Given the description of an element on the screen output the (x, y) to click on. 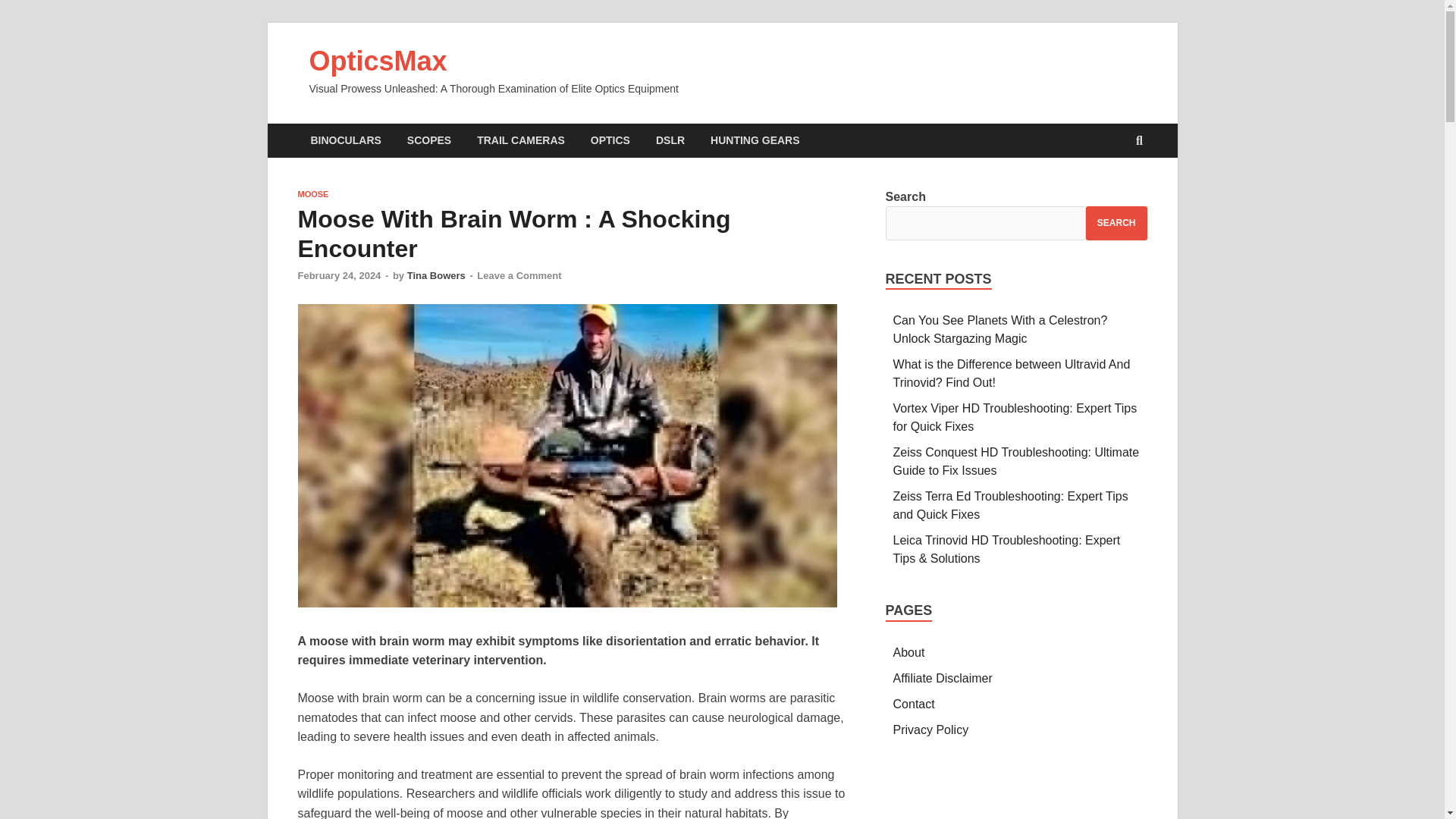
SCOPES (429, 140)
BINOCULARS (345, 140)
Tina Bowers (436, 275)
TRAIL CAMERAS (521, 140)
OPTICS (610, 140)
OpticsMax (377, 60)
DSLR (670, 140)
MOOSE (313, 194)
HUNTING GEARS (754, 140)
Leave a Comment (518, 275)
